Given the description of an element on the screen output the (x, y) to click on. 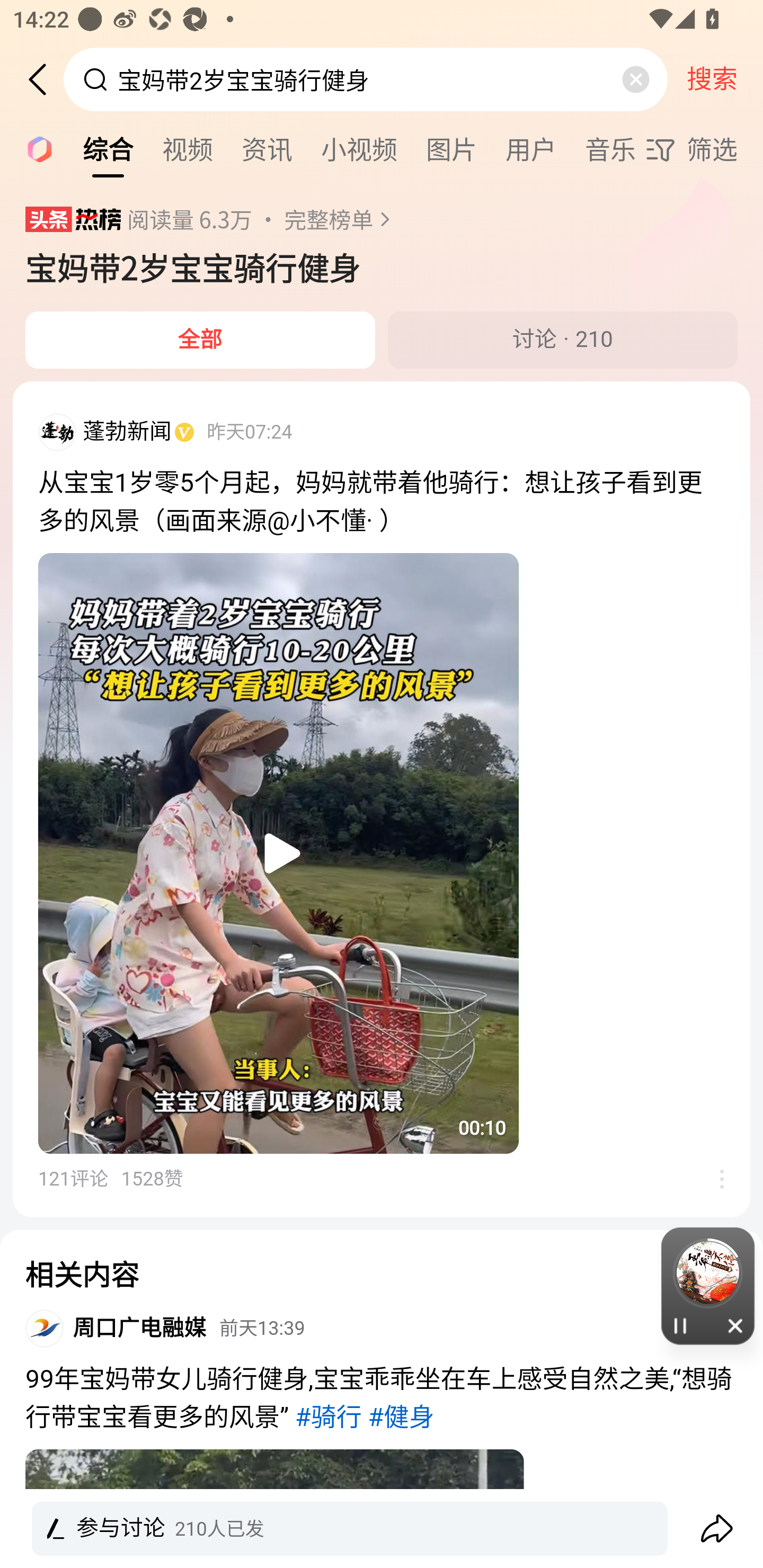
搜索框，宝妈带2岁宝宝骑行健身 (366, 79)
搜索 (711, 79)
返回 (44, 79)
清除 (635, 79)
视频 (187, 148)
资讯 (266, 148)
小视频 (359, 148)
图片 (451, 148)
用户 (530, 148)
音乐 (610, 148)
筛选 (703, 149)
AI问答 (34, 148)
暂停 关闭 (708, 1286)
暂停 (680, 1325)
关闭 (736, 1325)
